Given the description of an element on the screen output the (x, y) to click on. 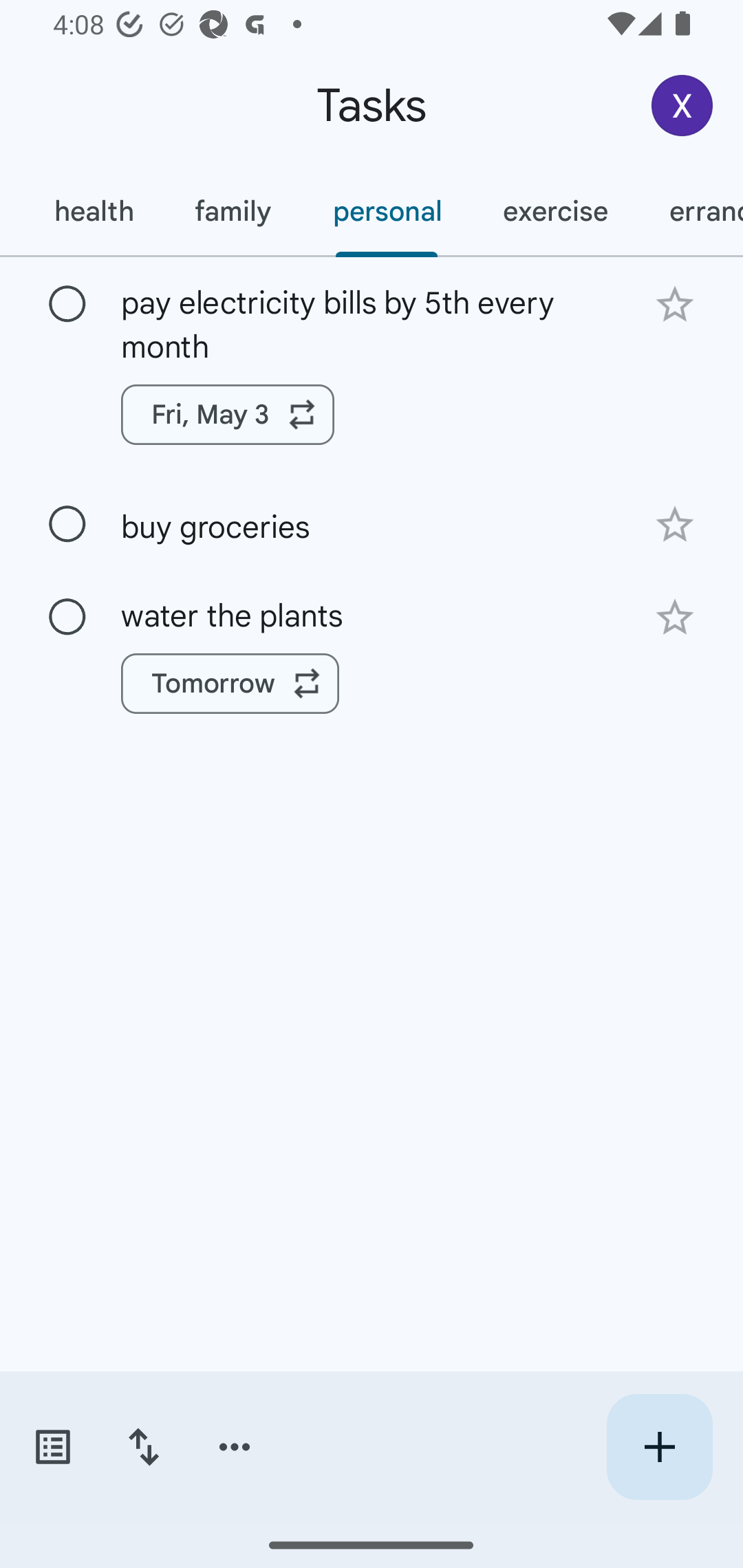
health (93, 211)
family (232, 211)
exercise (554, 211)
errands (690, 211)
Add star (674, 303)
Mark as complete (67, 304)
Fri, May 3 (227, 414)
Add star (674, 524)
Mark as complete (67, 524)
Add star (674, 617)
Mark as complete (67, 616)
Tomorrow (229, 683)
Switch task lists (52, 1447)
Create new task (659, 1446)
Change sort order (143, 1446)
More options (234, 1446)
